Given the description of an element on the screen output the (x, y) to click on. 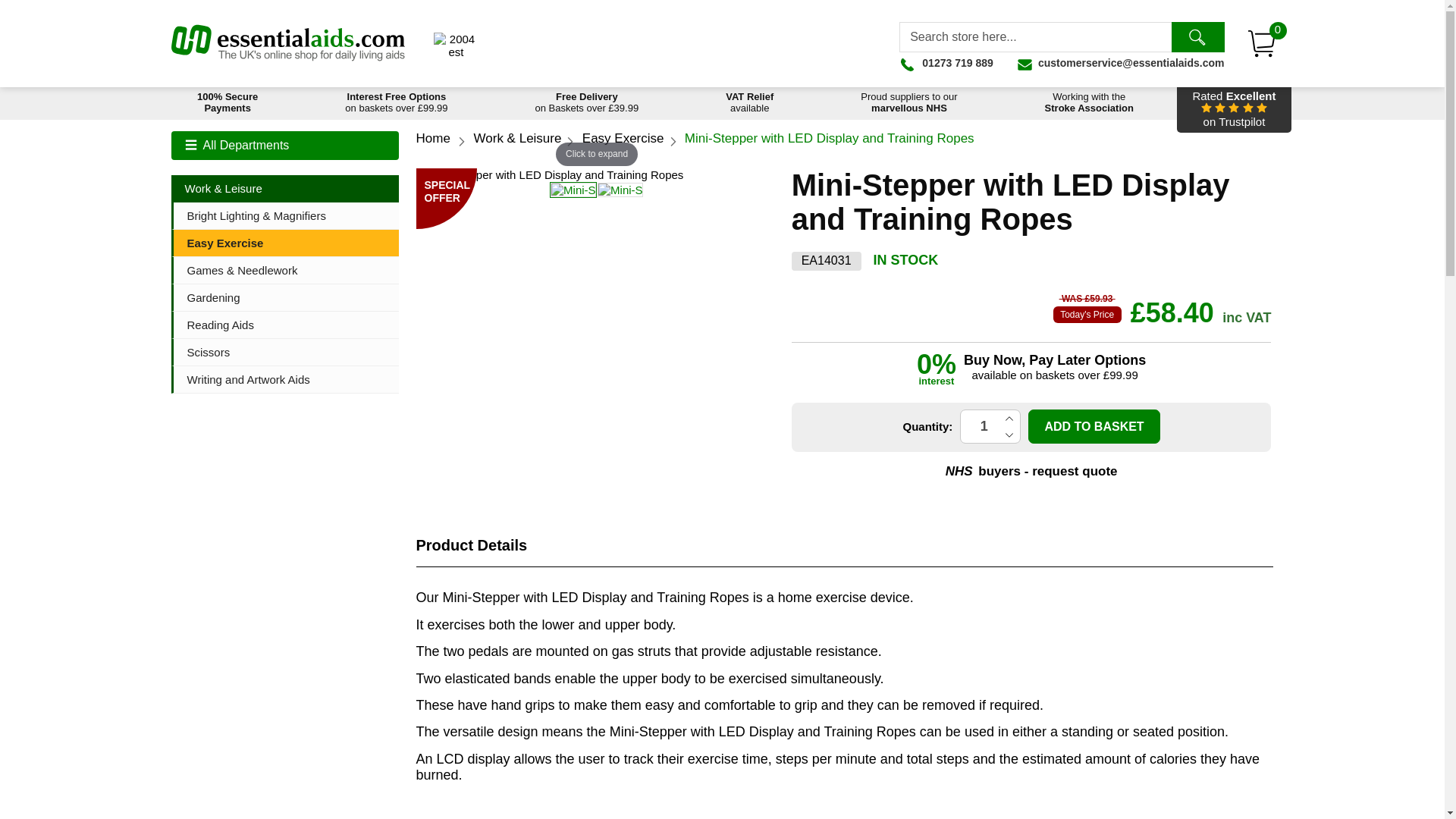
Your Basket (1262, 43)
4.8 out of 5 (1233, 109)
Search (1197, 37)
Availability (906, 260)
Quantity: (989, 426)
Add to Basket (1092, 426)
2004 est (1089, 102)
Go to Home Page (456, 45)
1 (431, 138)
01273 719 889 (989, 426)
Mini-Stepper with LED Display and Training Ropes (945, 62)
Mini-Stepper with LED Display and Training Ropes (619, 189)
